Given the description of an element on the screen output the (x, y) to click on. 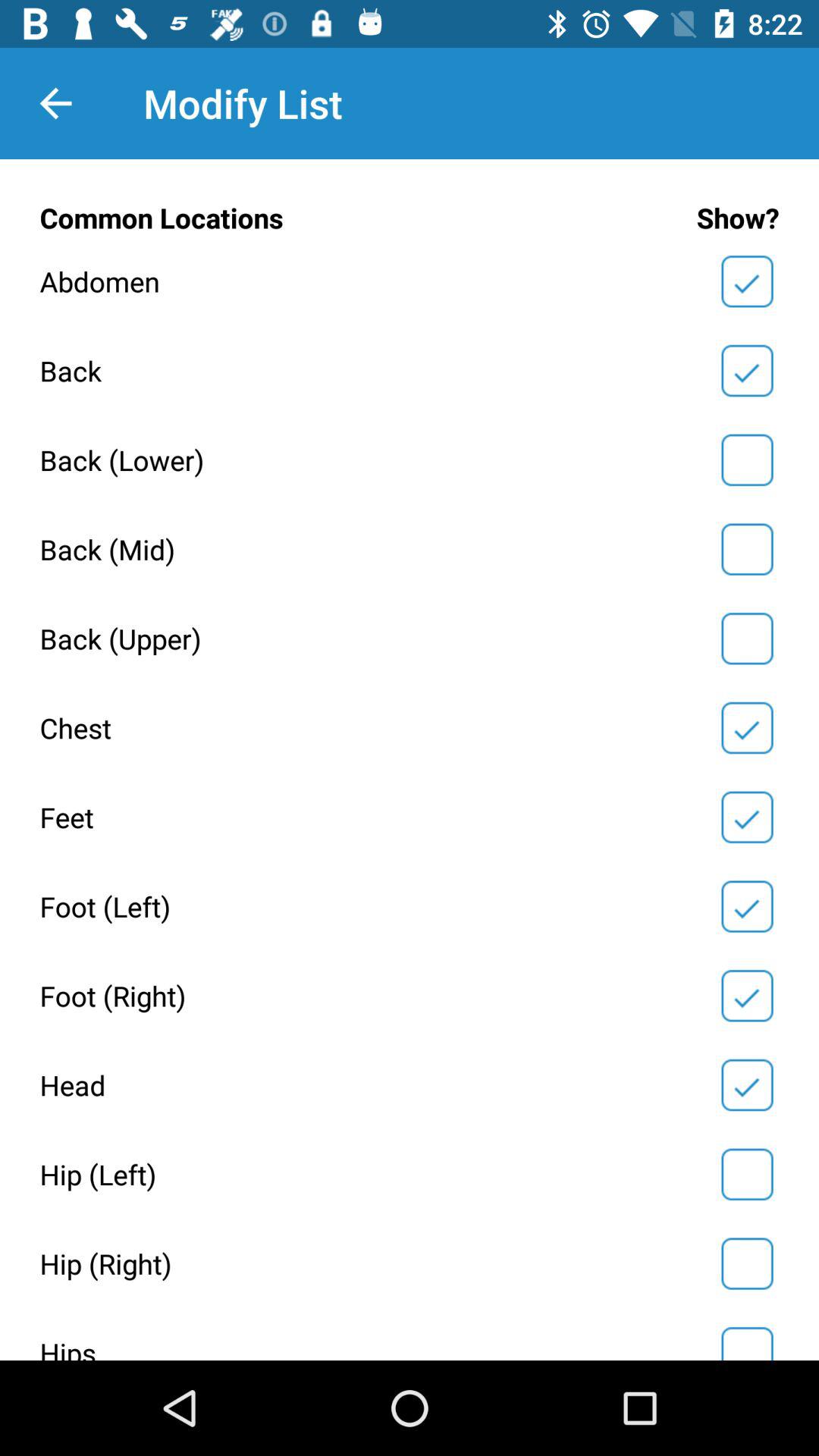
press to select (747, 459)
